Given the description of an element on the screen output the (x, y) to click on. 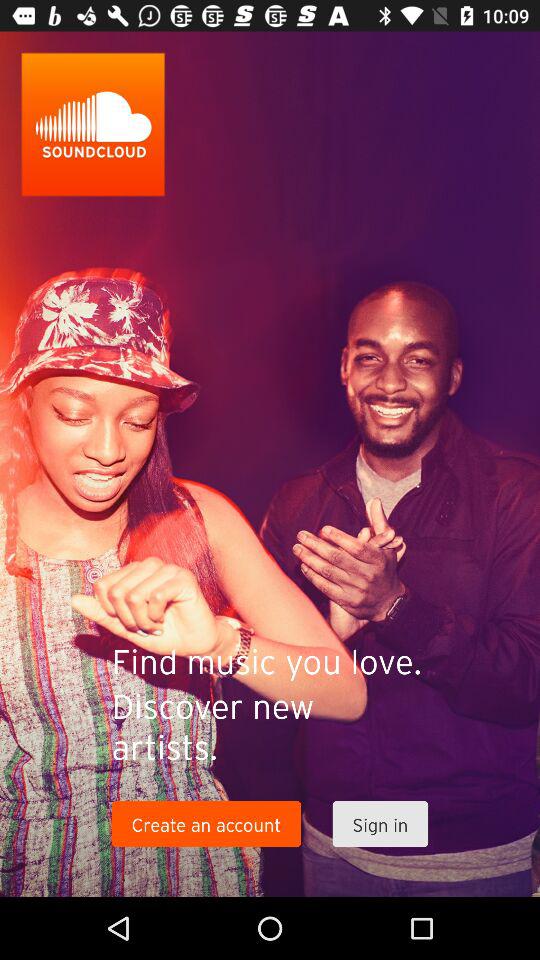
select create an account icon (206, 824)
